Given the description of an element on the screen output the (x, y) to click on. 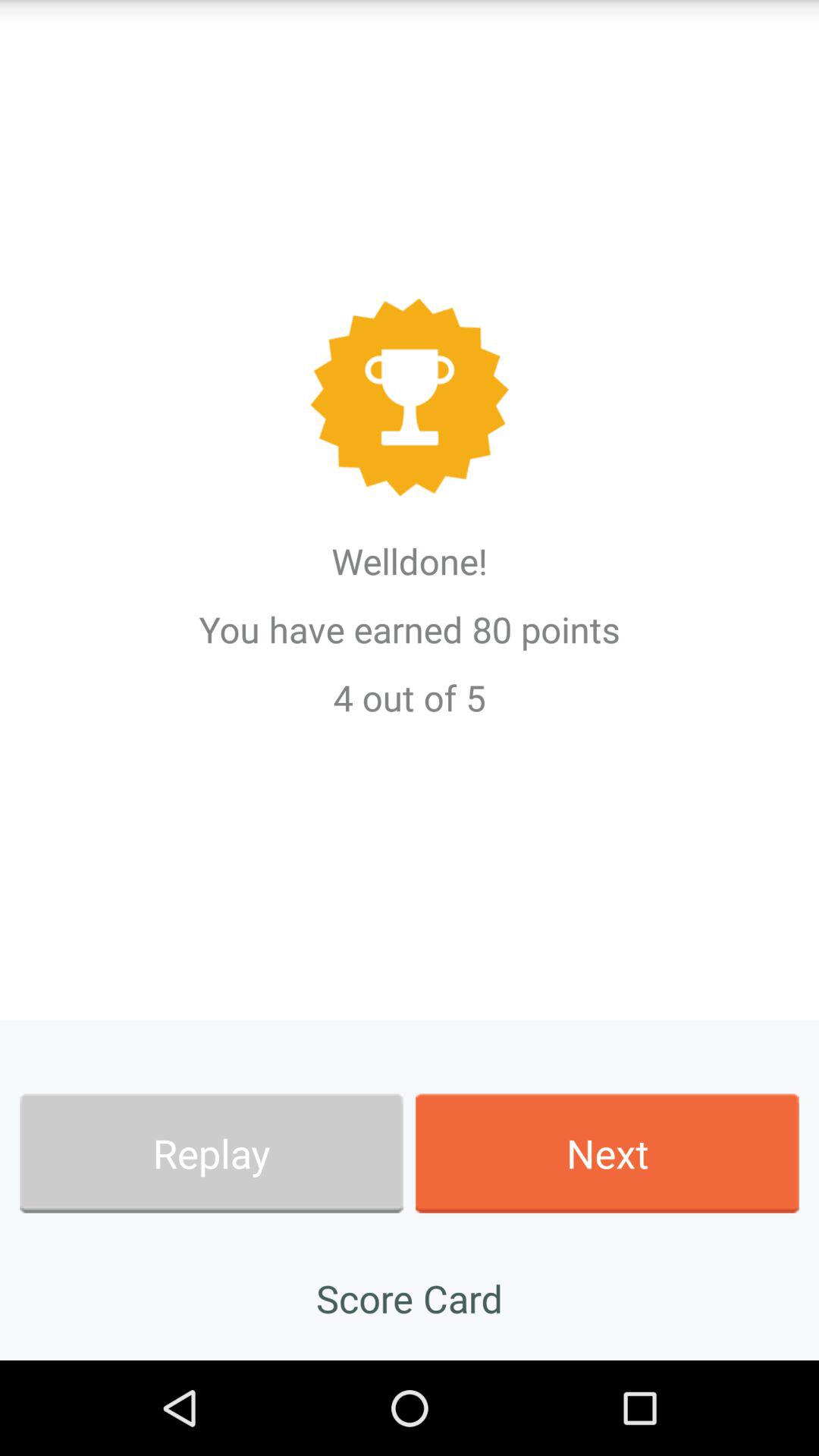
tap the app below the replay item (409, 1298)
